Given the description of an element on the screen output the (x, y) to click on. 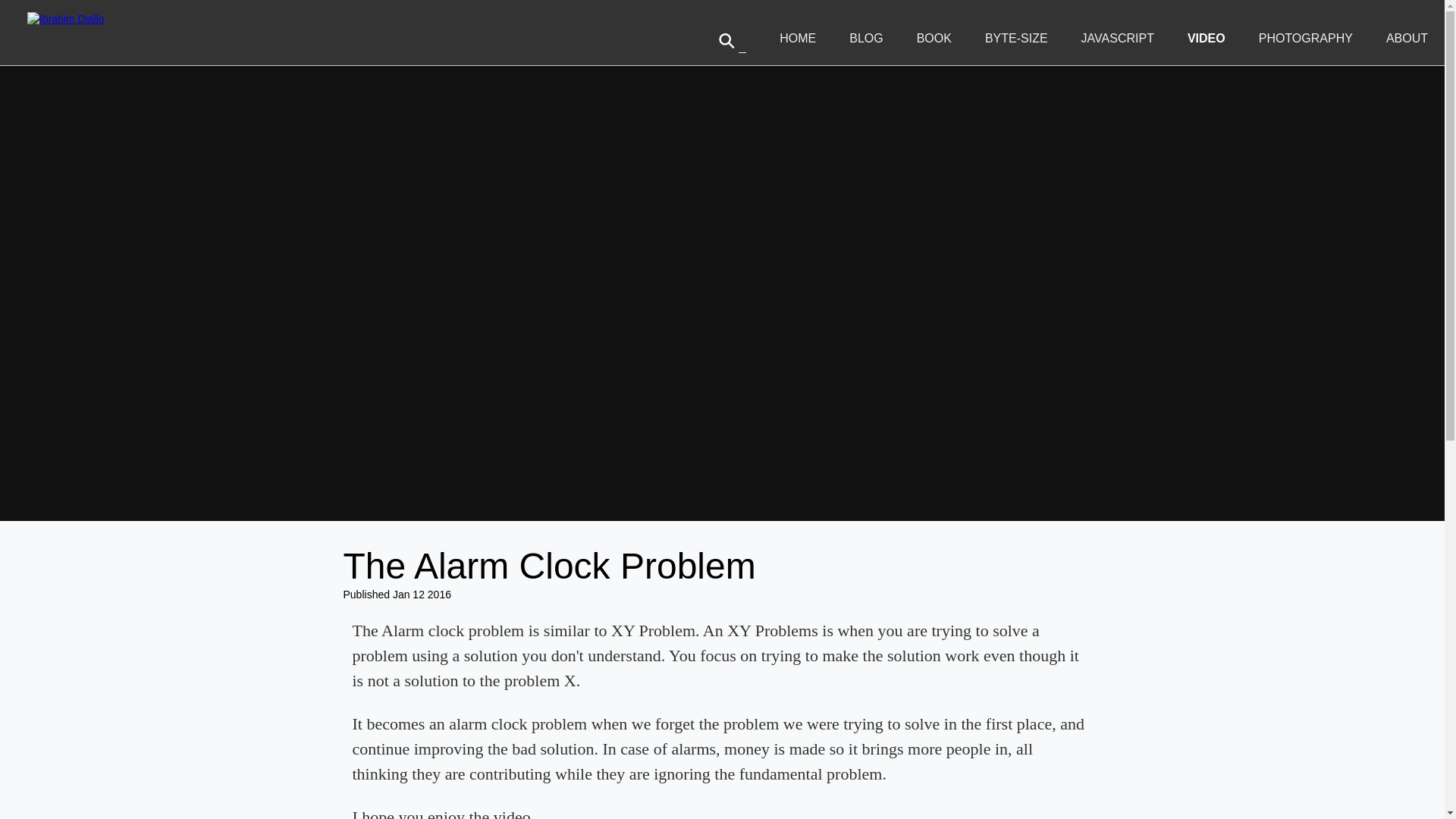
VIDEO (1206, 38)
PHOTOGRAPHY (1305, 38)
BOOK (934, 38)
JAVASCRIPT (1117, 38)
HOME (796, 38)
BYTE-SIZE (1016, 38)
BLOG (865, 38)
2016-01-12 01:04:00Z (422, 594)
ABOUT (1407, 38)
Ibrahim Diallo (65, 18)
